Given the description of an element on the screen output the (x, y) to click on. 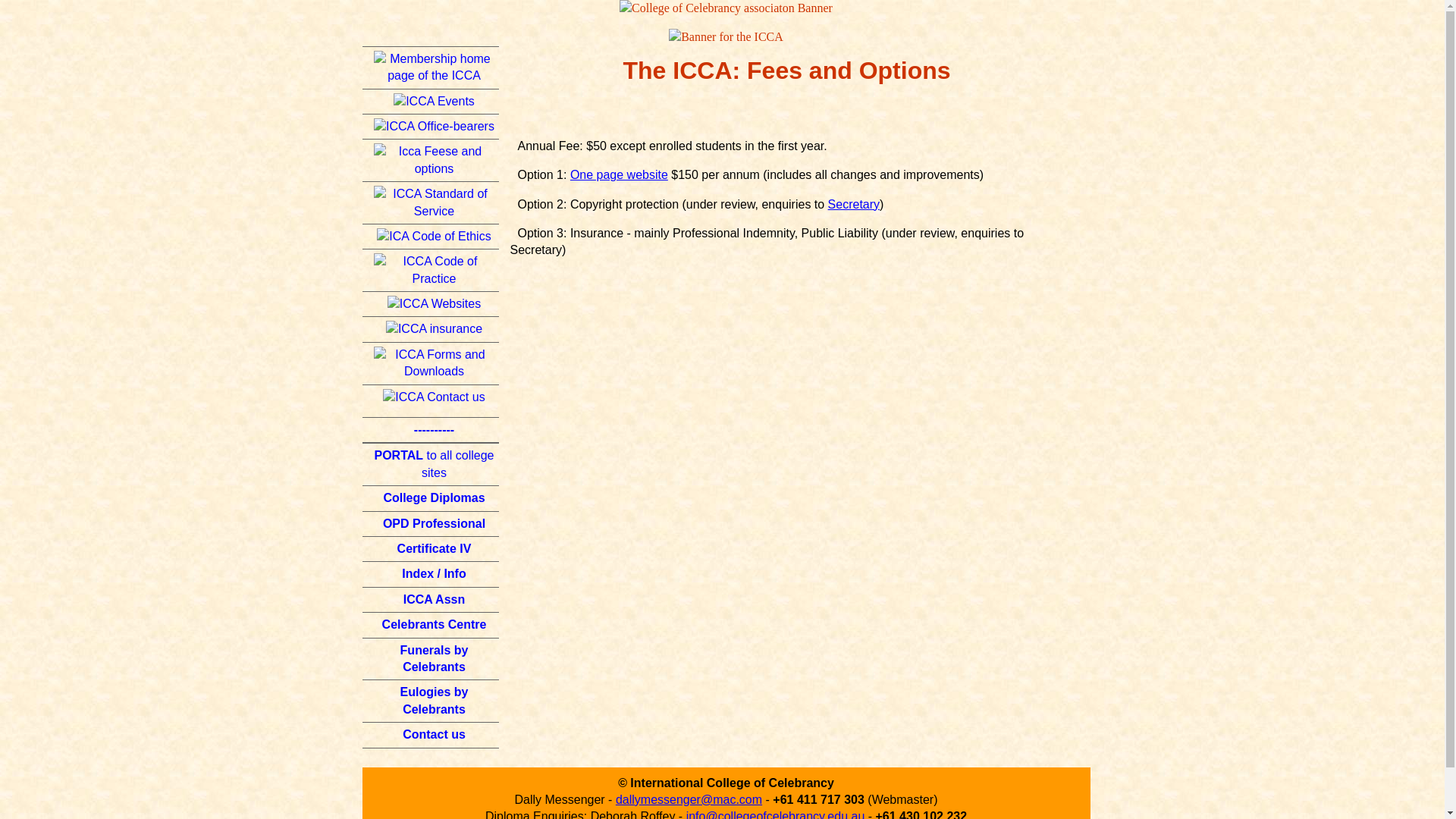
ICCA Assn Element type: text (430, 599)
---------- Element type: text (430, 429)
College Diplomas Element type: text (430, 498)
Funerals by Celebrants Element type: text (430, 659)
OPD Professional Element type: text (430, 523)
dallymessenger@mac.com Element type: text (688, 799)
Certificate IV Element type: text (430, 548)
Index / Info Element type: text (430, 573)
PORTAL to all college sites Element type: text (430, 464)
Secretary Element type: text (853, 203)
Contact us Element type: text (430, 734)
Eulogies by Celebrants Element type: text (430, 700)
One page website Element type: text (619, 174)
Celebrants Centre Element type: text (430, 624)
